Given the description of an element on the screen output the (x, y) to click on. 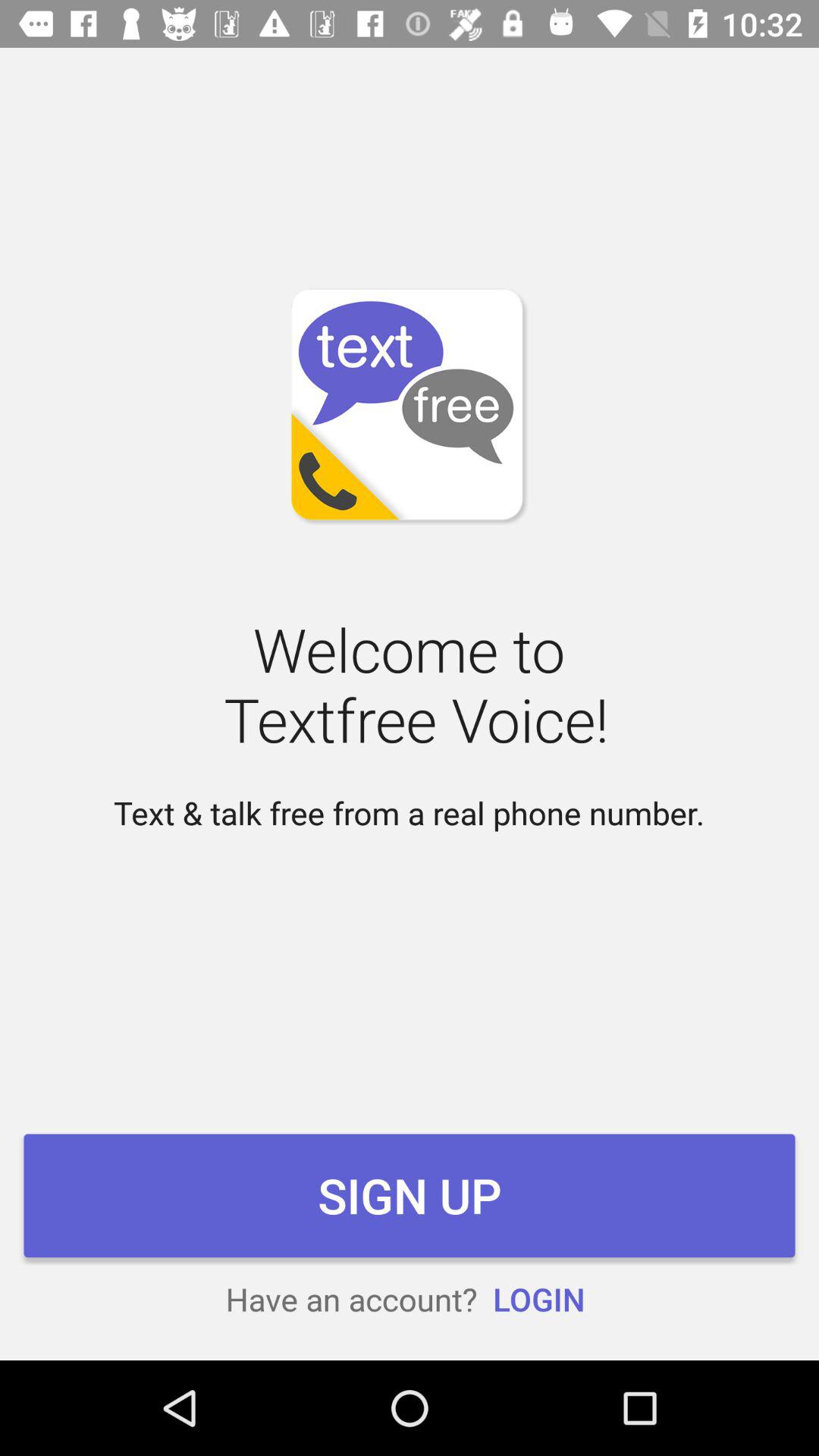
tap item to the right of have an account? (539, 1298)
